Given the description of an element on the screen output the (x, y) to click on. 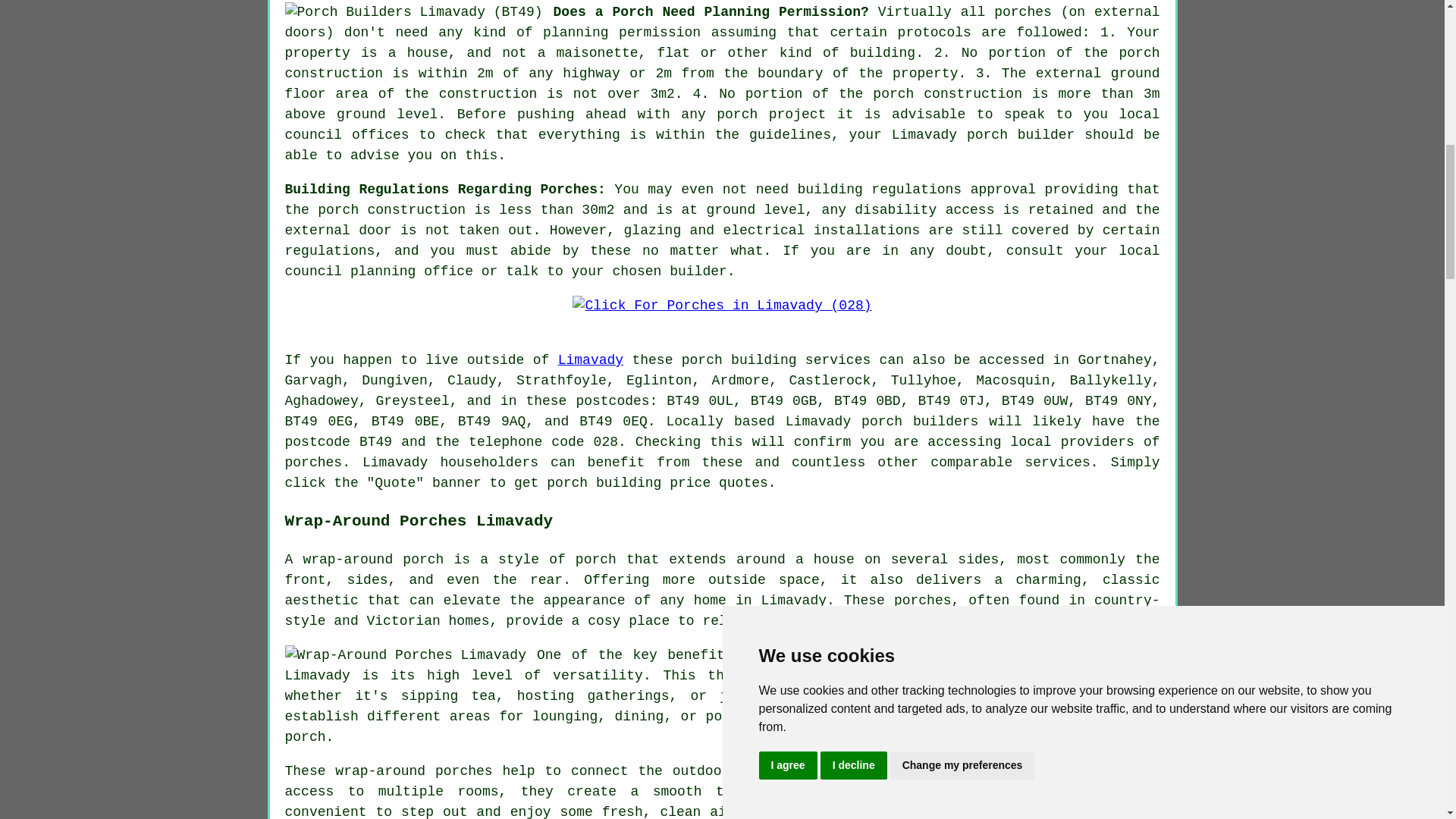
porch (881, 421)
porch (567, 482)
porch builder (1020, 134)
porches (313, 462)
Wrap-Around Porches Limavady (405, 655)
